Given the description of an element on the screen output the (x, y) to click on. 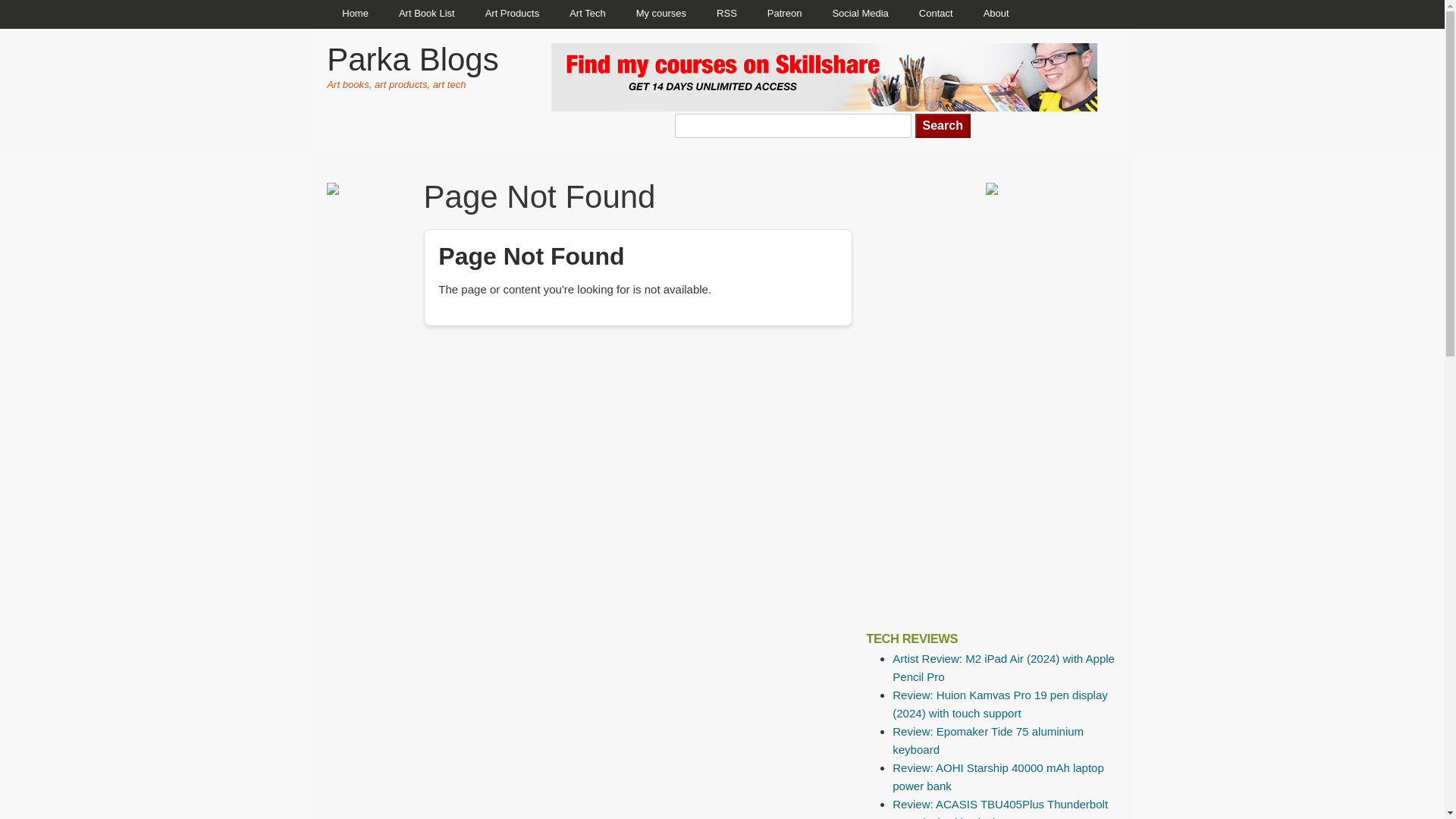
Review: Epomaker Tide 75 aluminium keyboard (987, 740)
Search (943, 125)
Review: AOHI Starship 40000 mAh laptop power bank (997, 776)
Social Media (859, 14)
Search (943, 125)
Art books from the west (427, 14)
My courses (661, 14)
Home (355, 14)
Parka Blogs (411, 58)
Drawing courses (661, 14)
Patreon (784, 14)
Art Products (512, 14)
Contact (936, 14)
RSS (726, 14)
